Given the description of an element on the screen output the (x, y) to click on. 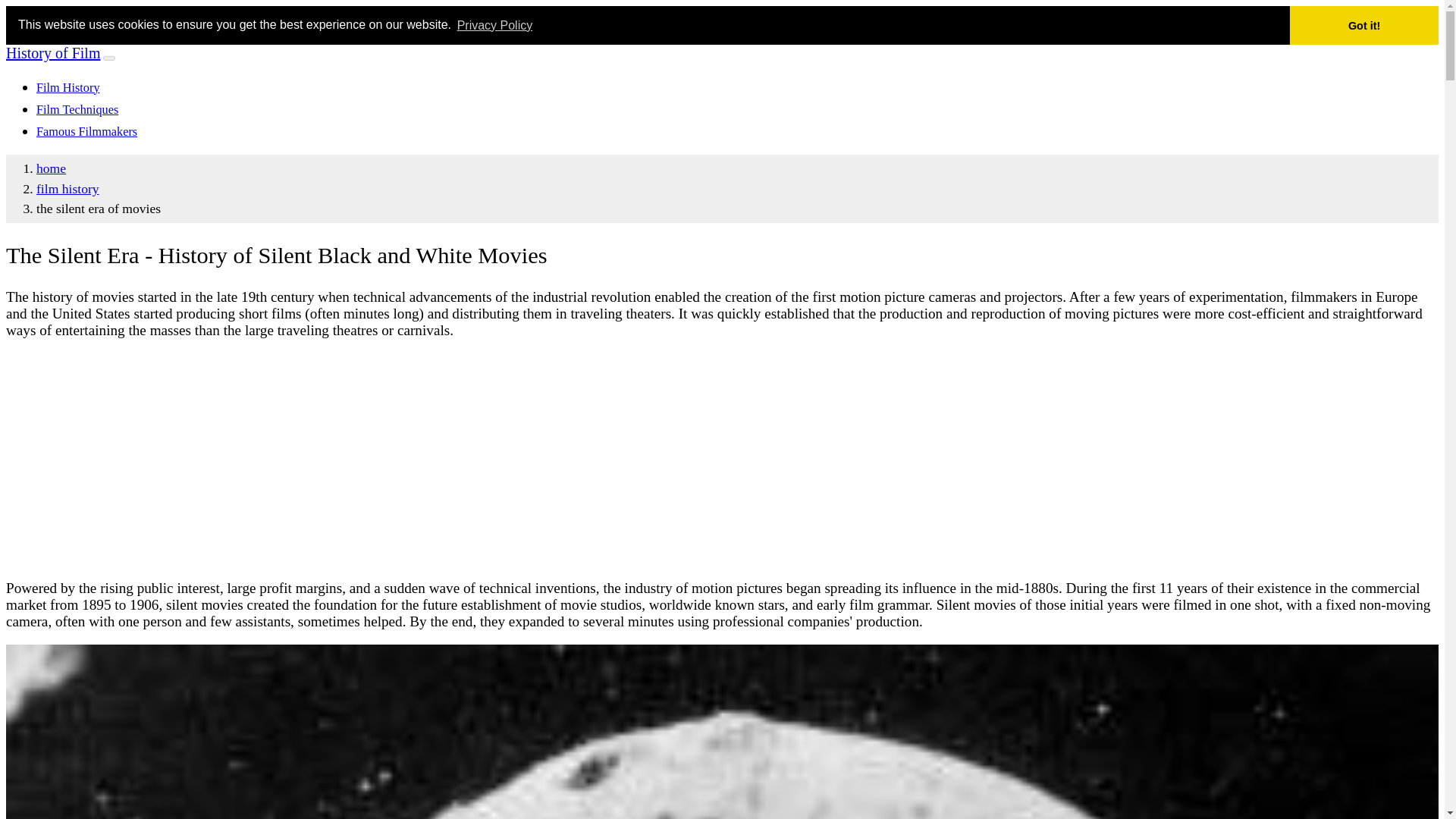
home (50, 168)
Film Techniques (76, 110)
Film History (68, 88)
Privacy Policy (494, 24)
film history (67, 188)
History of Film (52, 53)
Famous Filmmakers (86, 131)
